Given the description of an element on the screen output the (x, y) to click on. 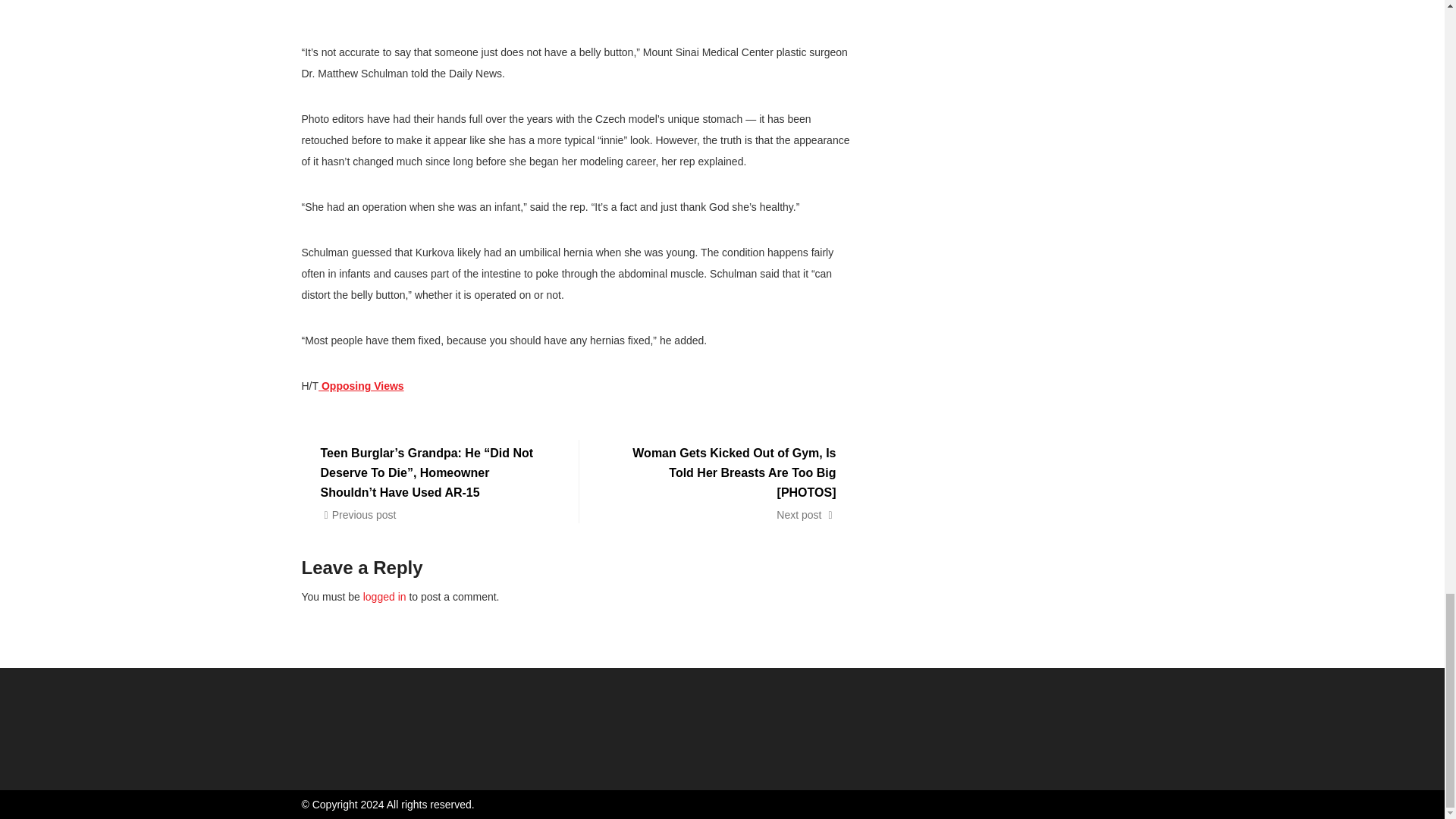
Opposing Views (361, 386)
logged in (384, 596)
